Given the description of an element on the screen output the (x, y) to click on. 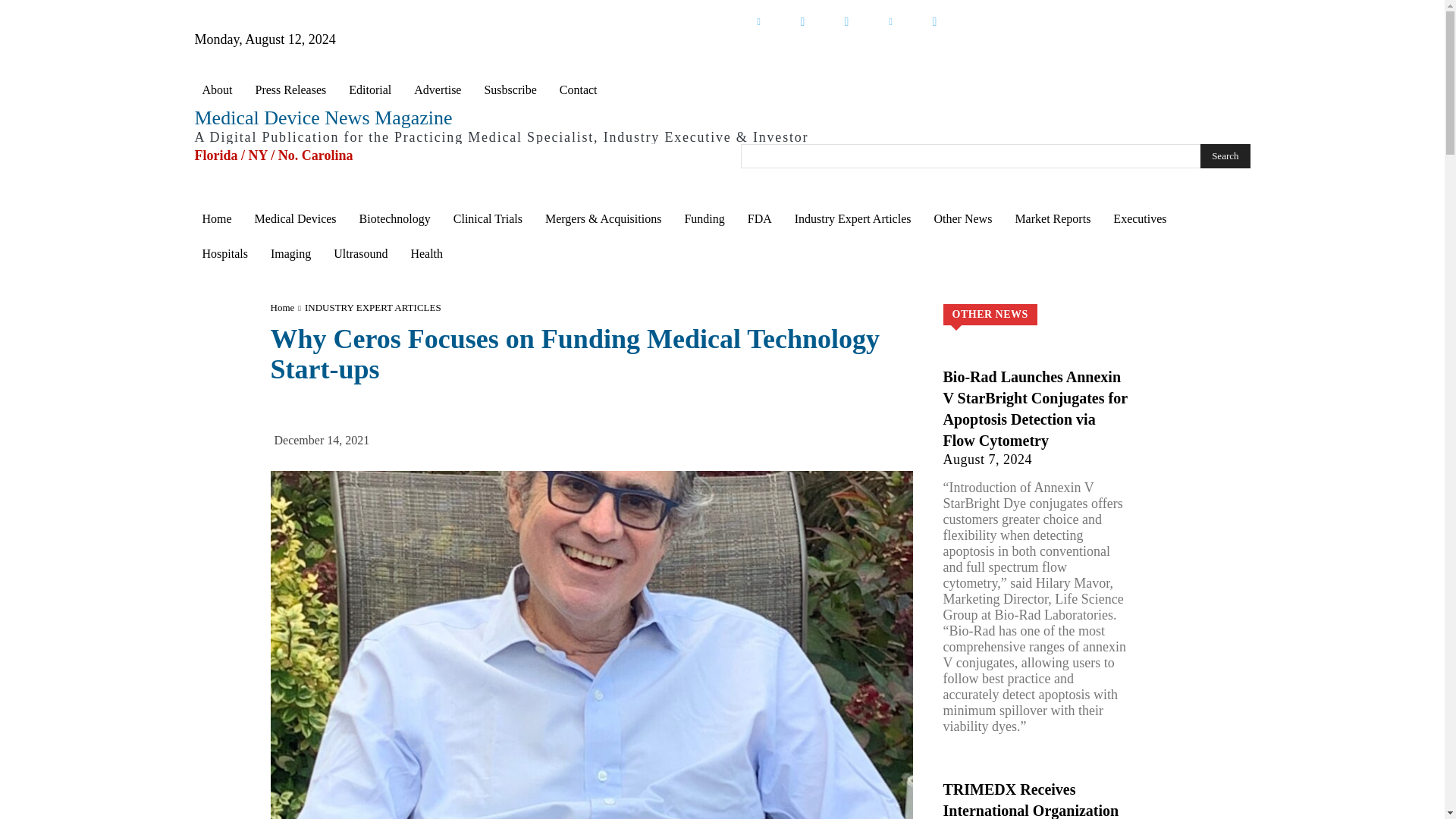
LinkedIn (757, 22)
Home (215, 218)
Search (1224, 156)
Funding (704, 218)
Contact (578, 89)
Clinical Trials (487, 218)
Medical Devices (295, 218)
Facebook (846, 22)
Twitter (802, 22)
Pinterest (890, 22)
